Given the description of an element on the screen output the (x, y) to click on. 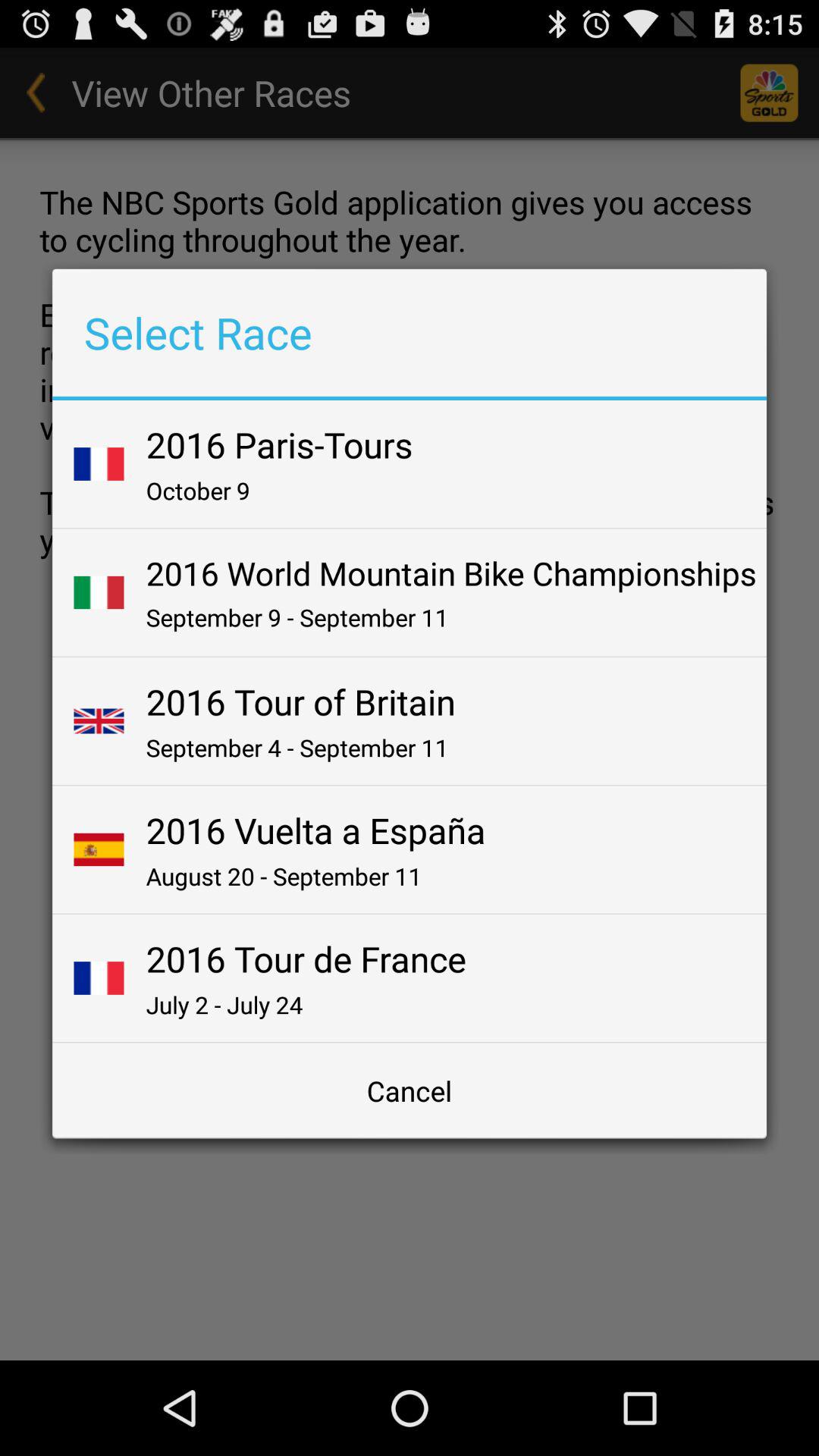
scroll to the cancel icon (409, 1090)
